Given the description of an element on the screen output the (x, y) to click on. 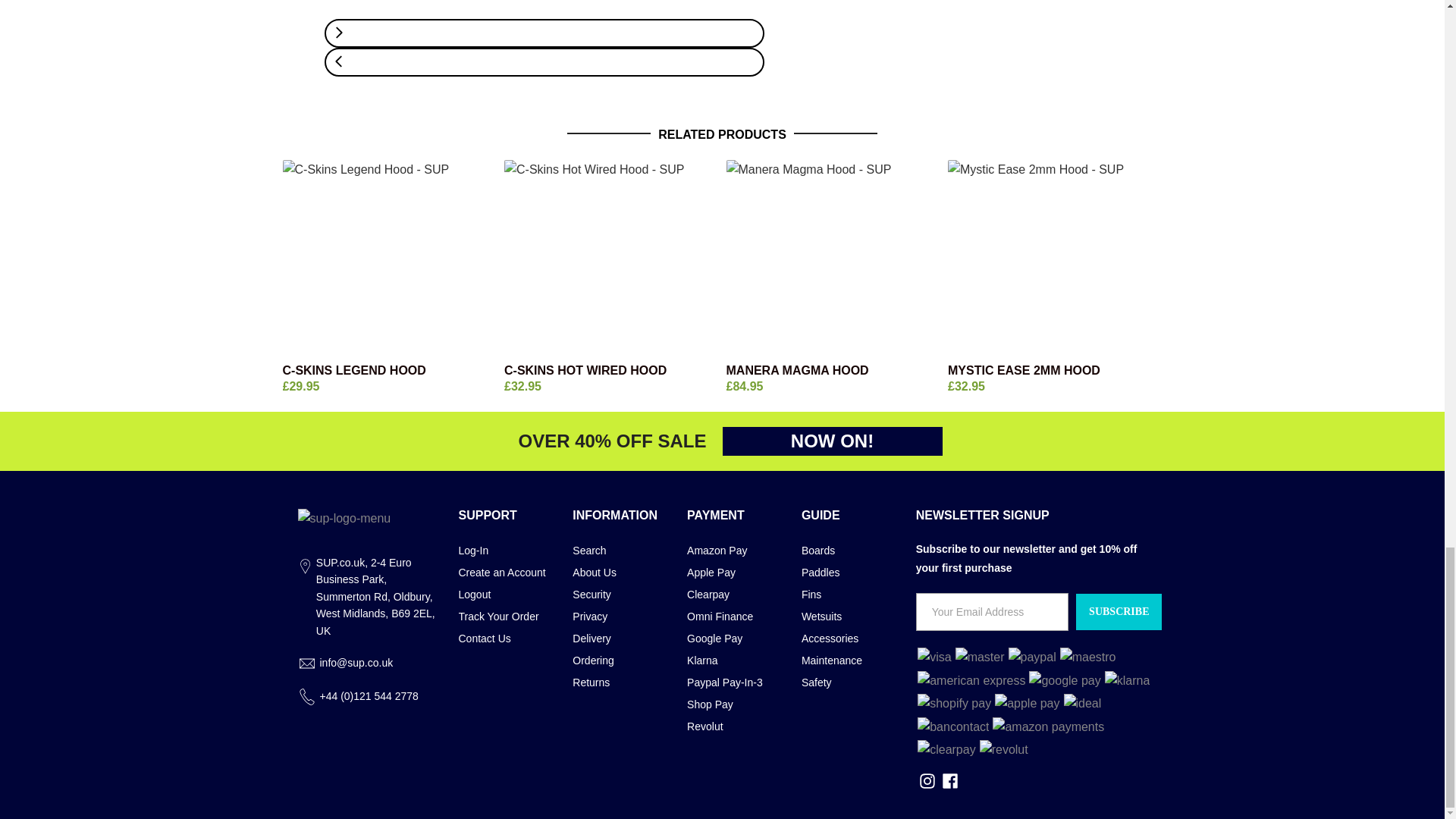
C-Skins Legend Hood (389, 370)
Manera Magma Hood (833, 258)
C-Skins Hot Wired Hood (611, 370)
C-Skins Hot Wired Hood (611, 258)
C-Skins Legend Hood (389, 258)
